Given the description of an element on the screen output the (x, y) to click on. 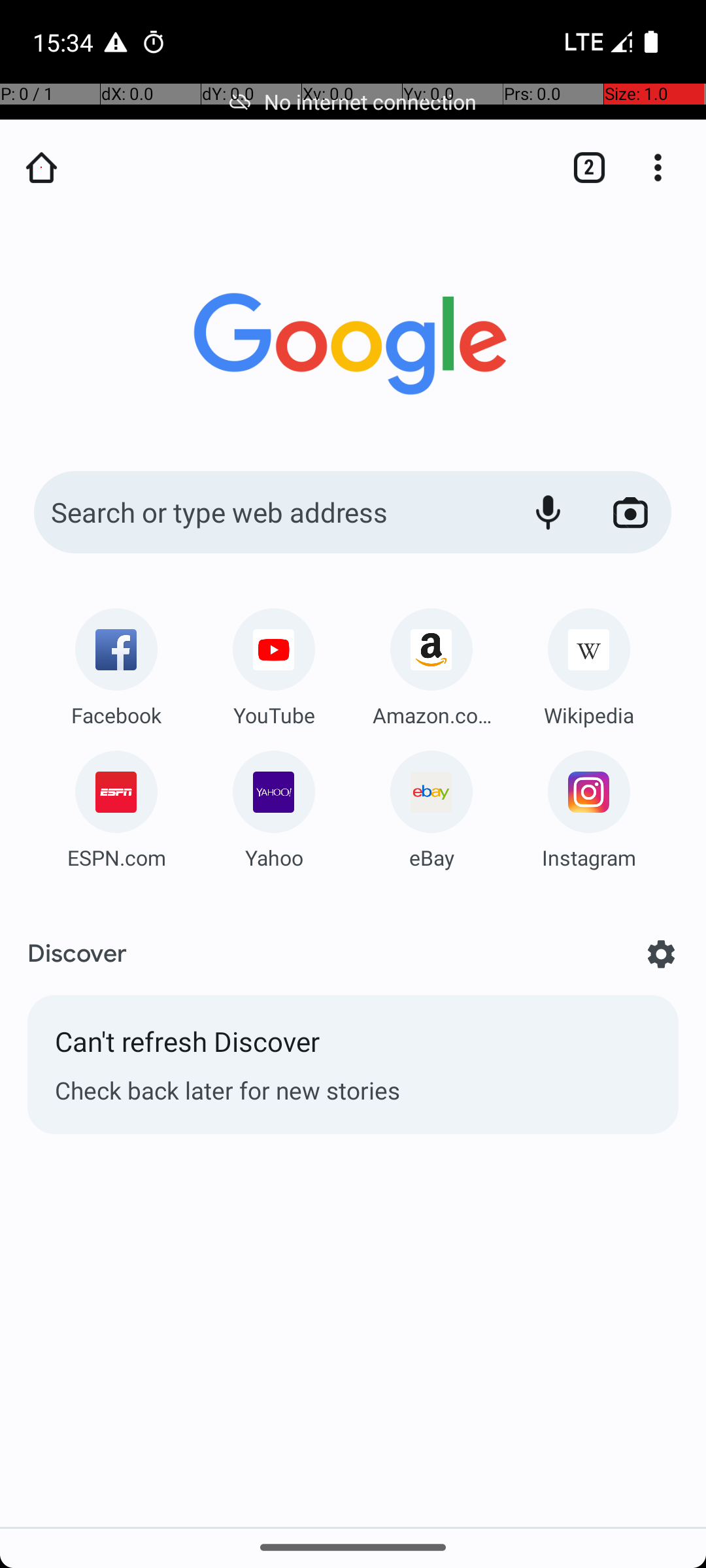
No internet connection Element type: android.widget.TextView (352, 101)
Switch or close tabs Element type: android.widget.ImageButton (582, 167)
Search or type web address Element type: android.widget.EditText (267, 512)
Start voice search Element type: android.widget.ImageView (547, 512)
Search with your camera using Google Lens Element type: android.widget.ImageView (629, 512)
Navigate: Facebook: m.facebook.com Element type: android.widget.FrameLayout (115, 662)
Navigate: YouTube: m.youtube.com Element type: android.widget.FrameLayout (273, 662)
Navigate: Amazon.com: www.amazon.com Element type: android.widget.FrameLayout (431, 662)
Navigate: Wikipedia: en.m.wikipedia.org Element type: android.widget.FrameLayout (588, 662)
Navigate: ESPN.com: www.espn.com Element type: android.widget.FrameLayout (115, 804)
Navigate: Yahoo: www.yahoo.com Element type: android.widget.FrameLayout (273, 804)
Navigate: eBay: m.ebay.com Element type: android.widget.FrameLayout (431, 804)
Navigate: Instagram: www.instagram.com Element type: android.widget.FrameLayout (588, 804)
Discover Element type: android.widget.TextView (76, 953)
Options for Discover Element type: android.widget.ImageButton (660, 953)
Can't refresh Discover Element type: android.widget.TextView (352, 1047)
Check back later for new stories Element type: android.widget.TextView (352, 1089)
Facebook Element type: android.widget.TextView (115, 715)
Amazon.com Element type: android.widget.TextView (430, 715)
Wikipedia Element type: android.widget.TextView (588, 715)
ESPN.com Element type: android.widget.TextView (115, 857)
Yahoo Element type: android.widget.TextView (273, 857)
eBay Element type: android.widget.TextView (430, 857)
Instagram Element type: android.widget.TextView (588, 857)
